Given the description of an element on the screen output the (x, y) to click on. 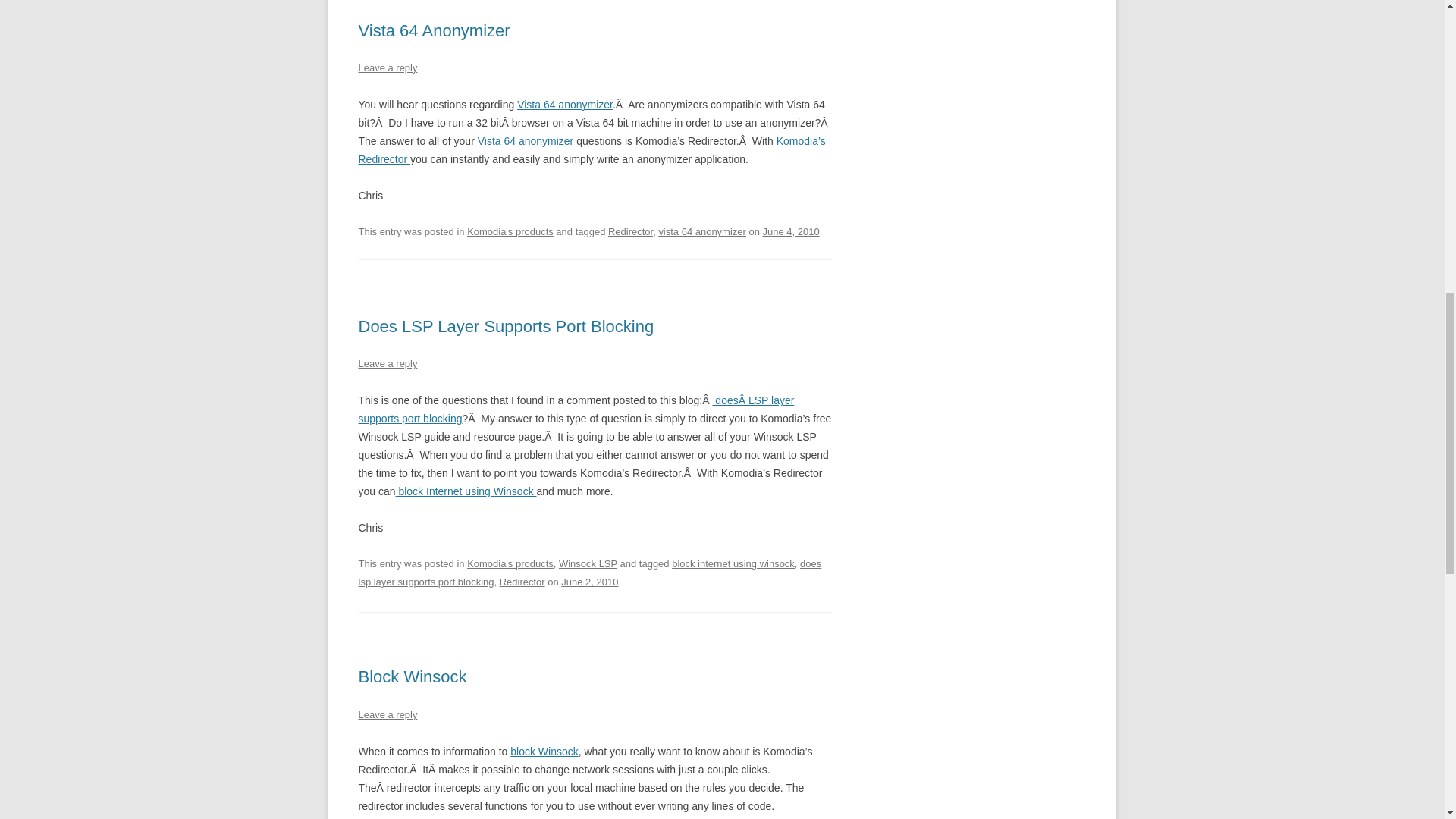
Leave a reply (387, 67)
Vista 64 anonymizer (564, 104)
2:58 am (588, 582)
Komodia's products (510, 231)
Vista 64 Anonymizer (433, 30)
Vista 64 anonymizer (526, 141)
3:11 am (790, 231)
